Given the description of an element on the screen output the (x, y) to click on. 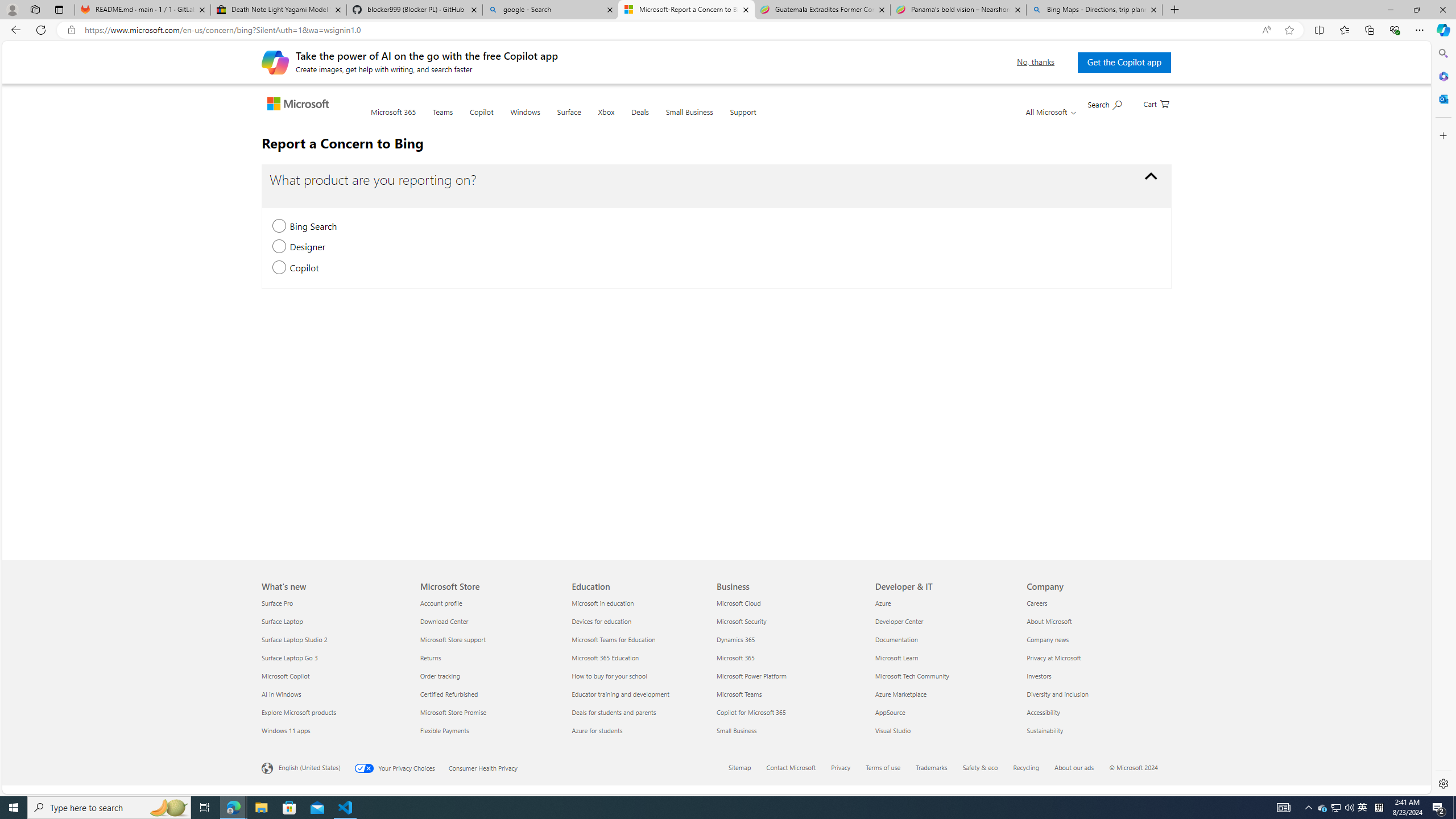
About our ads (1081, 768)
Careers Company (1037, 602)
Microsoft Copilot (334, 675)
Trademarks (931, 766)
Microsoft Power Platform Business (751, 675)
Azure for students Education (597, 729)
Order tracking (489, 675)
Surface Laptop Studio 2 What's new (294, 638)
Certified Refurbished (489, 693)
Azure for students (641, 730)
Visual Studio (944, 730)
Windows (525, 118)
